Given the description of an element on the screen output the (x, y) to click on. 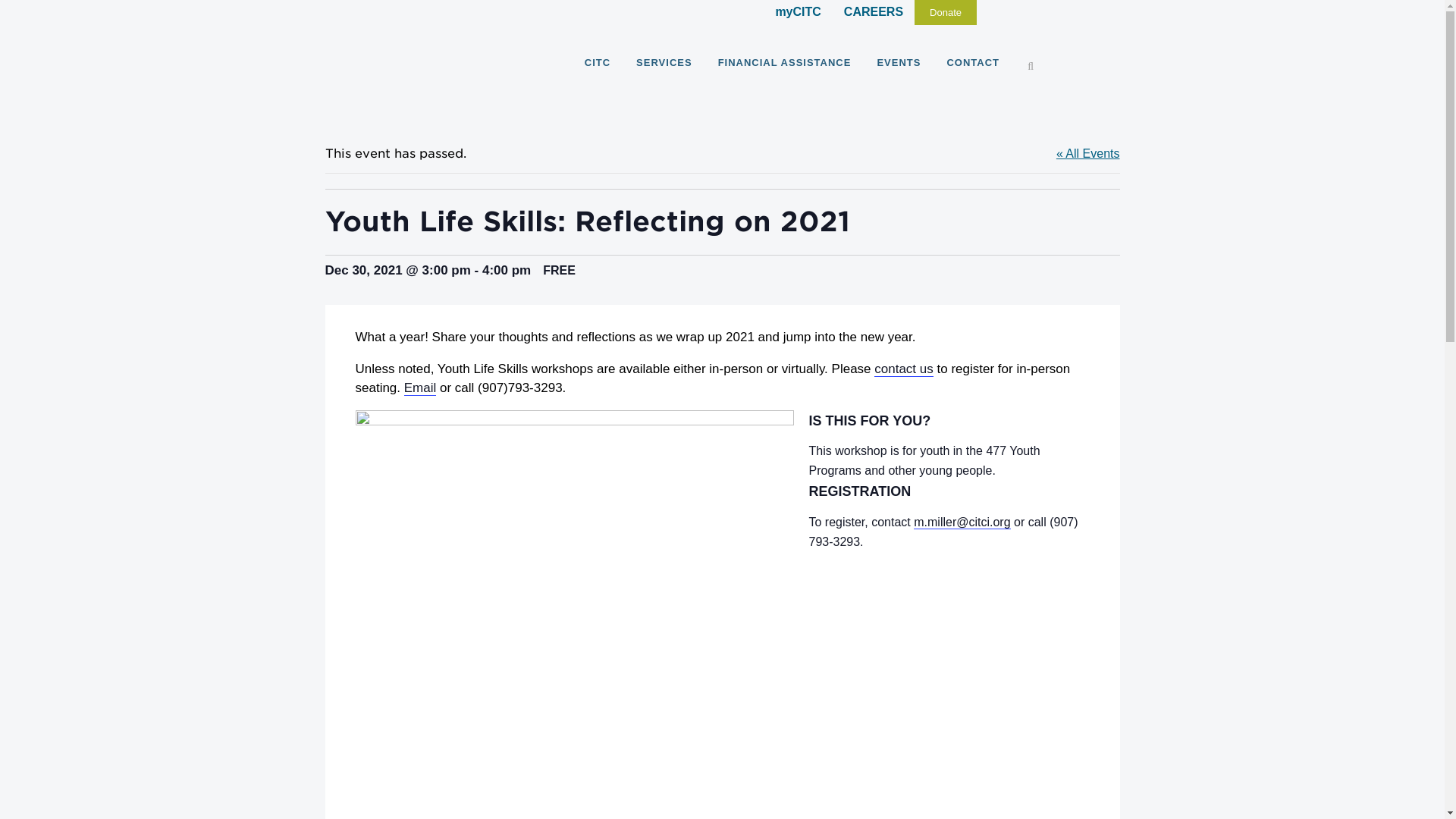
EVENTS (898, 62)
CONTACT (972, 62)
Donate (945, 12)
SERVICES (663, 62)
FINANCIAL ASSISTANCE (784, 62)
CAREERS (873, 11)
myCITC (797, 11)
